Given the description of an element on the screen output the (x, y) to click on. 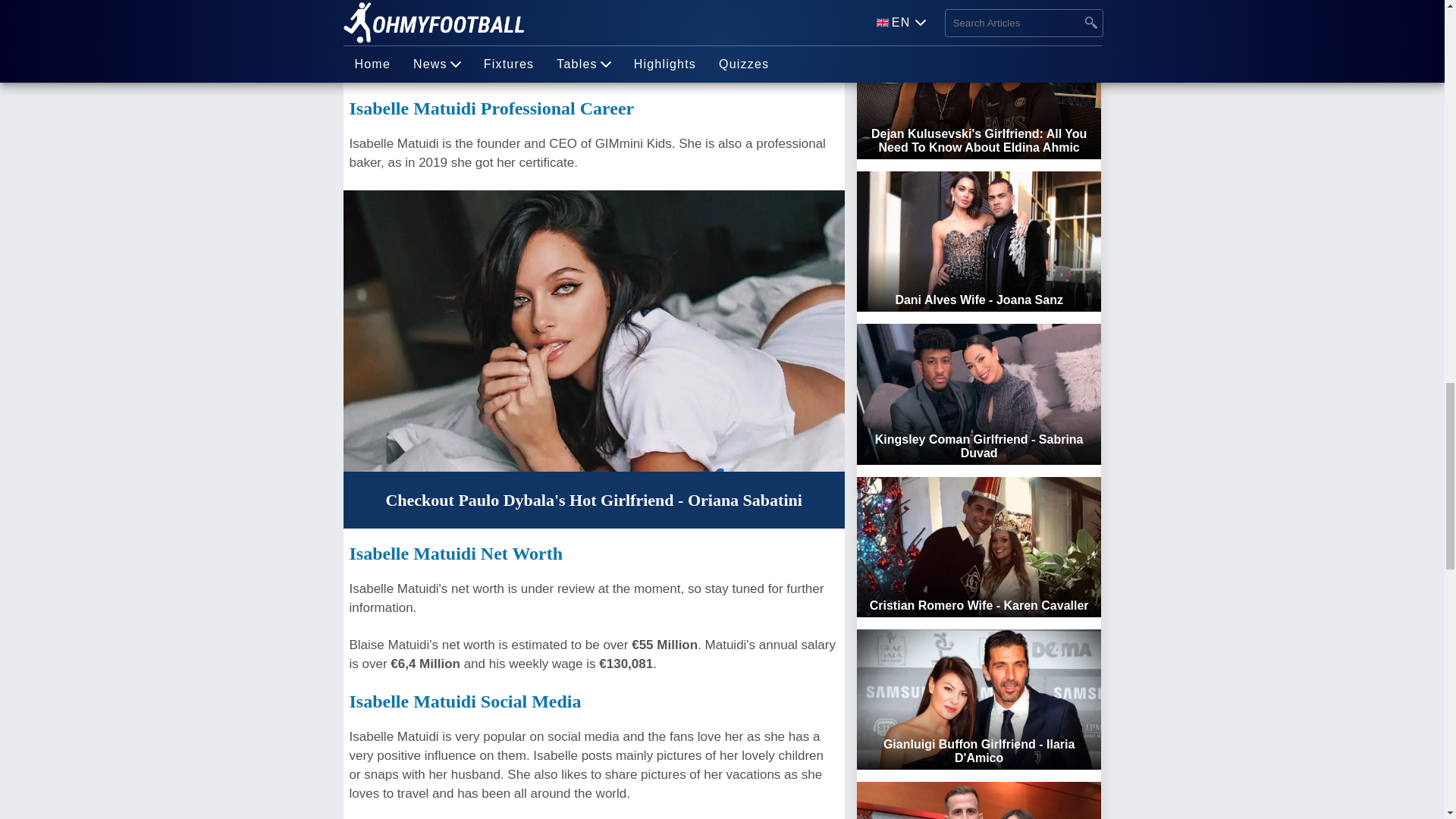
Isabelle Matuidi Professional Career (491, 107)
Isabelle Matuidi Net Worth (455, 553)
Isabelle Matuidi Education (454, 3)
